Given the description of an element on the screen output the (x, y) to click on. 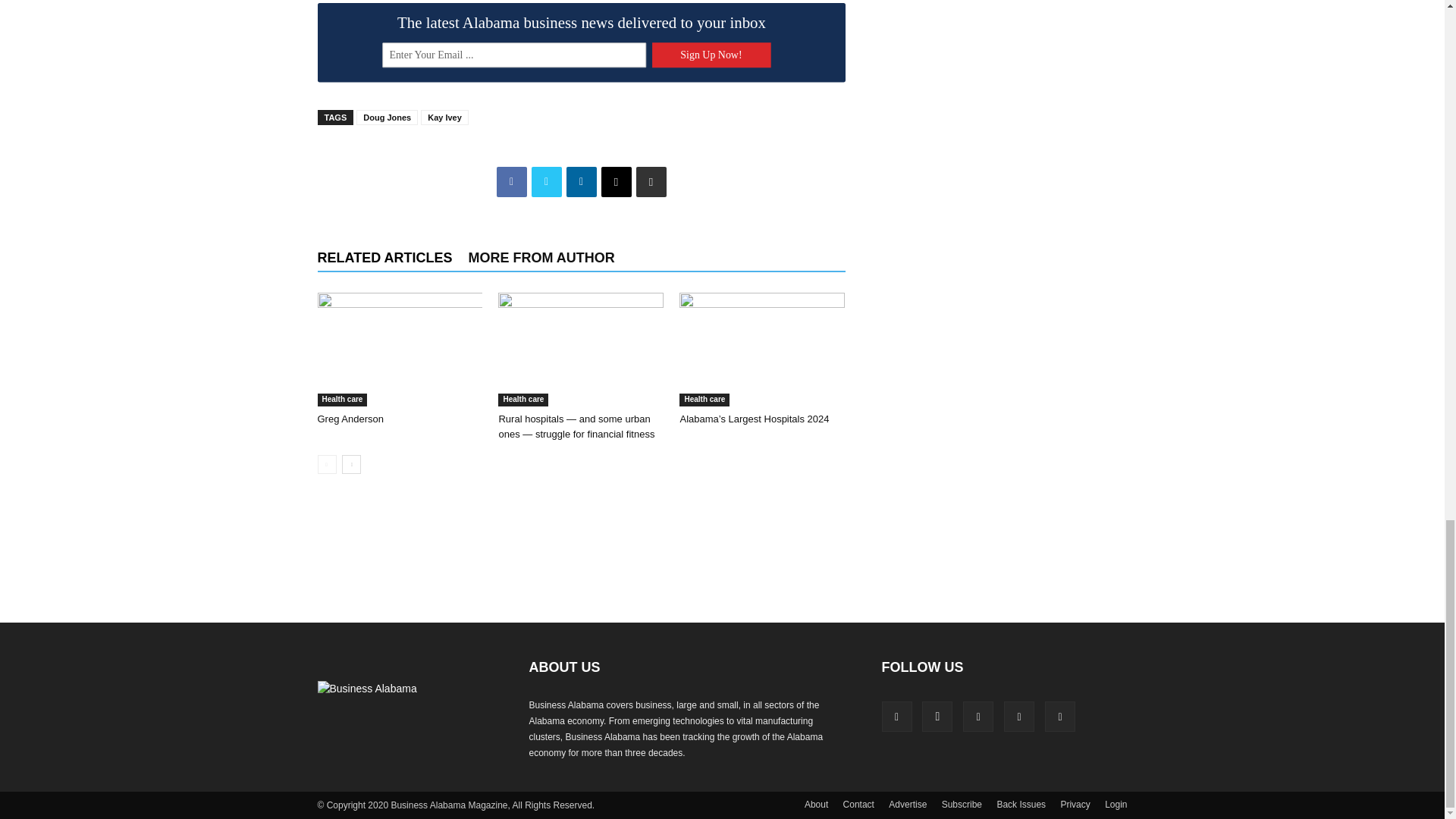
Facebook (510, 182)
Twitter (545, 182)
